Given the description of an element on the screen output the (x, y) to click on. 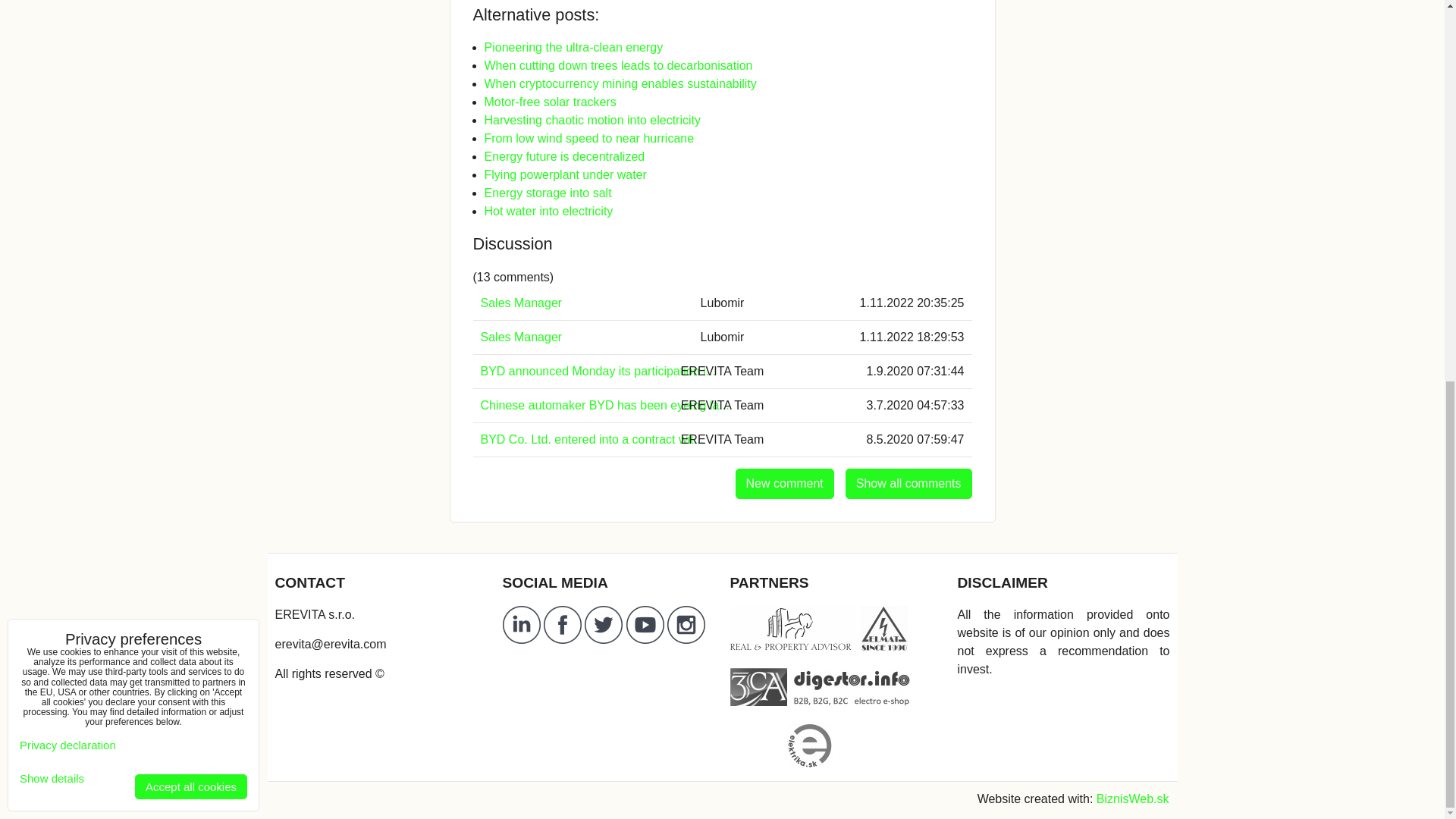
From low wind speed to near hurricane (588, 137)
3cAnalysis (757, 686)
Energy future is decentralized (564, 155)
linkedin (521, 639)
Sales Manager (521, 336)
Hot water into electricity (547, 210)
Pioneering the ultra-clean energy (572, 47)
When cutting down trees leads to decarbonisation (617, 65)
When cryptocurrency mining enables sustainability (619, 83)
3cAnalysis (757, 701)
Flying powerplant under water (564, 174)
Sales Manager (521, 302)
ELMAT SLOVAKIA (883, 646)
EREVITA's hints at youtube (646, 639)
ELMAT SLOVAKIA (883, 628)
